Given the description of an element on the screen output the (x, y) to click on. 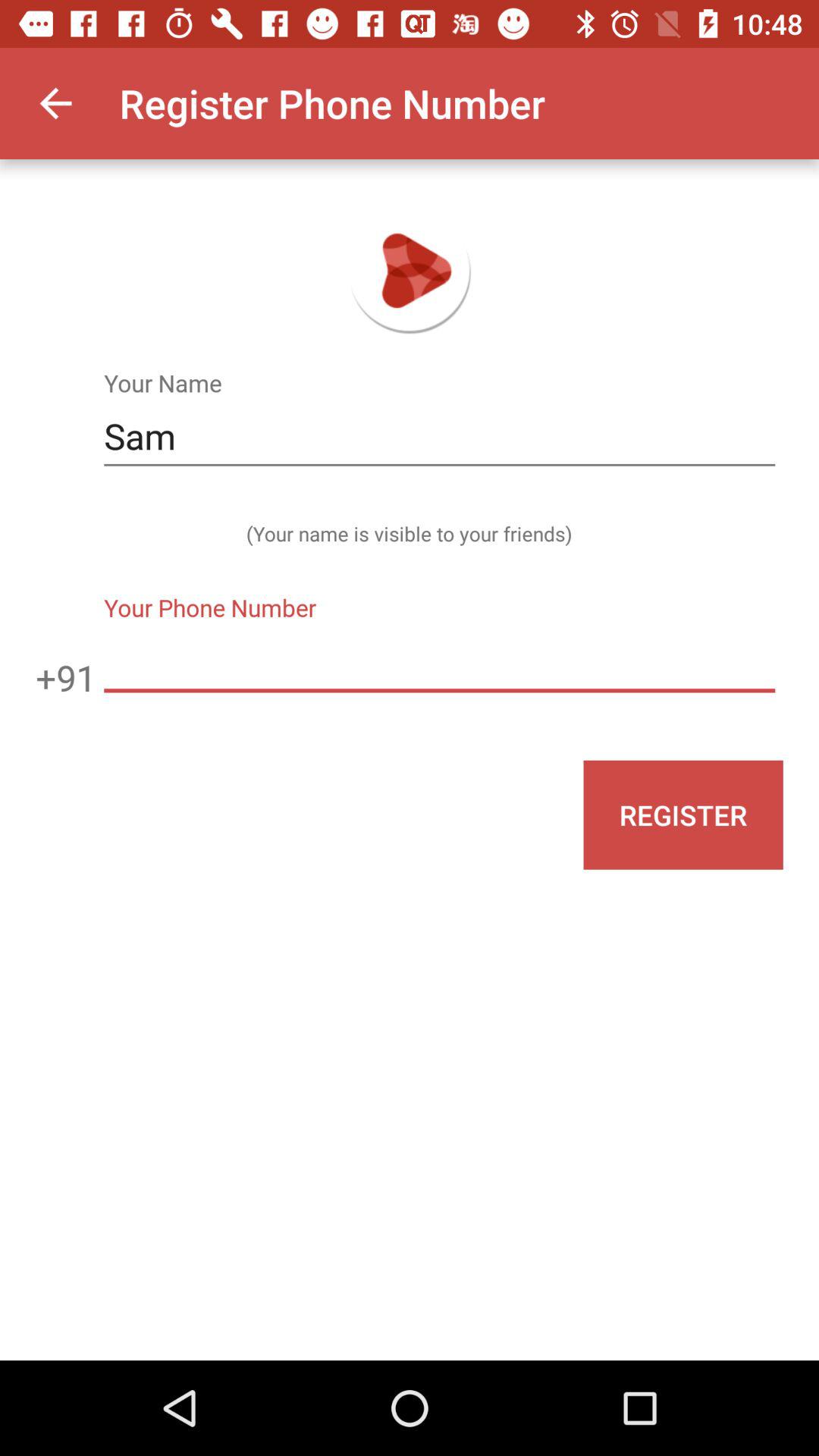
choose icon below your name is icon (439, 661)
